Given the description of an element on the screen output the (x, y) to click on. 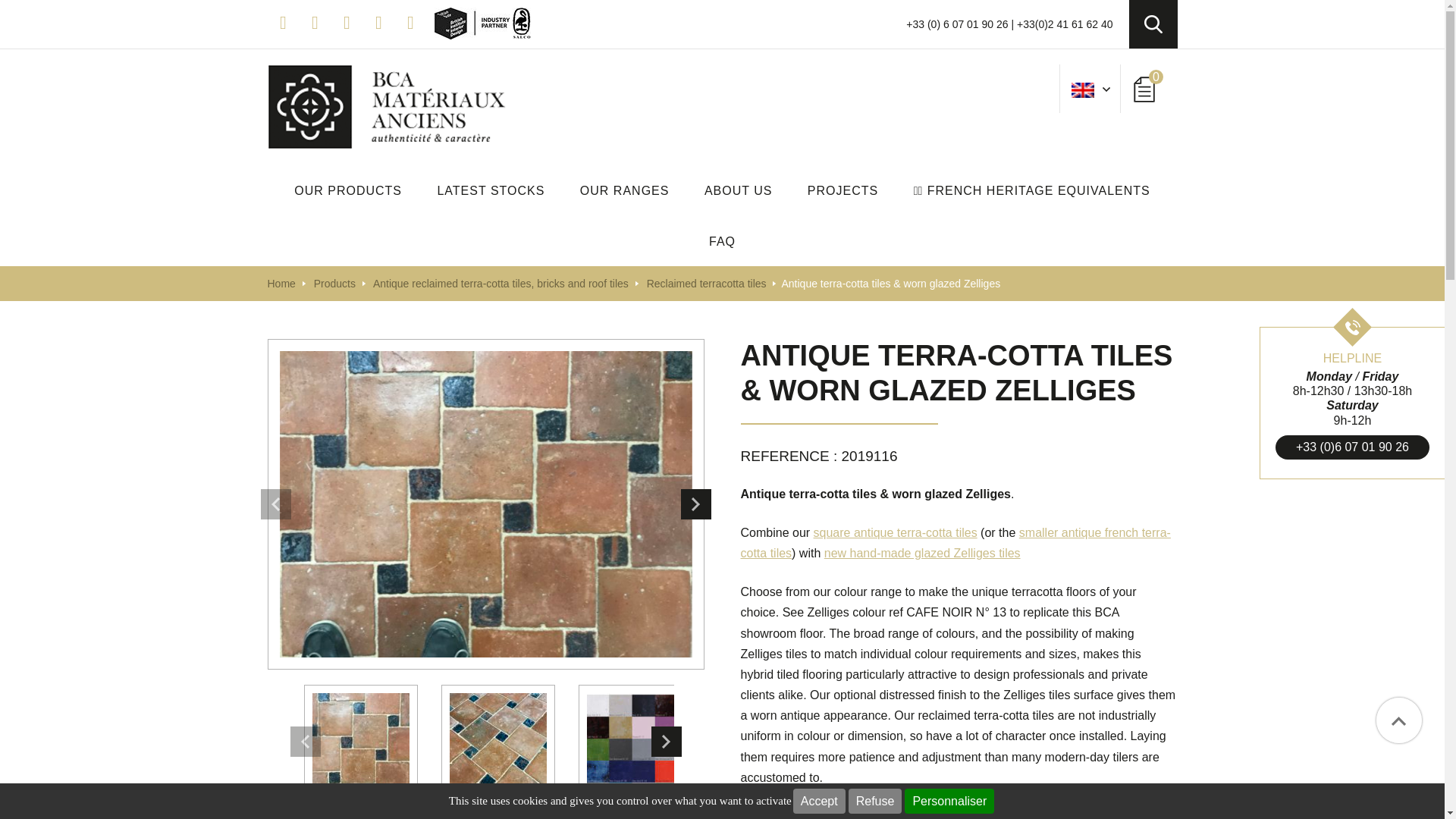
PROJECTS (842, 189)
Skip to content (19, 183)
LATEST STOCKS (490, 189)
FAQ (722, 240)
ABOUT US (738, 189)
OUR PRODUCTS (347, 189)
Aller au texte (34, 11)
Link to Products (334, 283)
OUR RANGES (624, 189)
Go to homepage (280, 283)
